Given the description of an element on the screen output the (x, y) to click on. 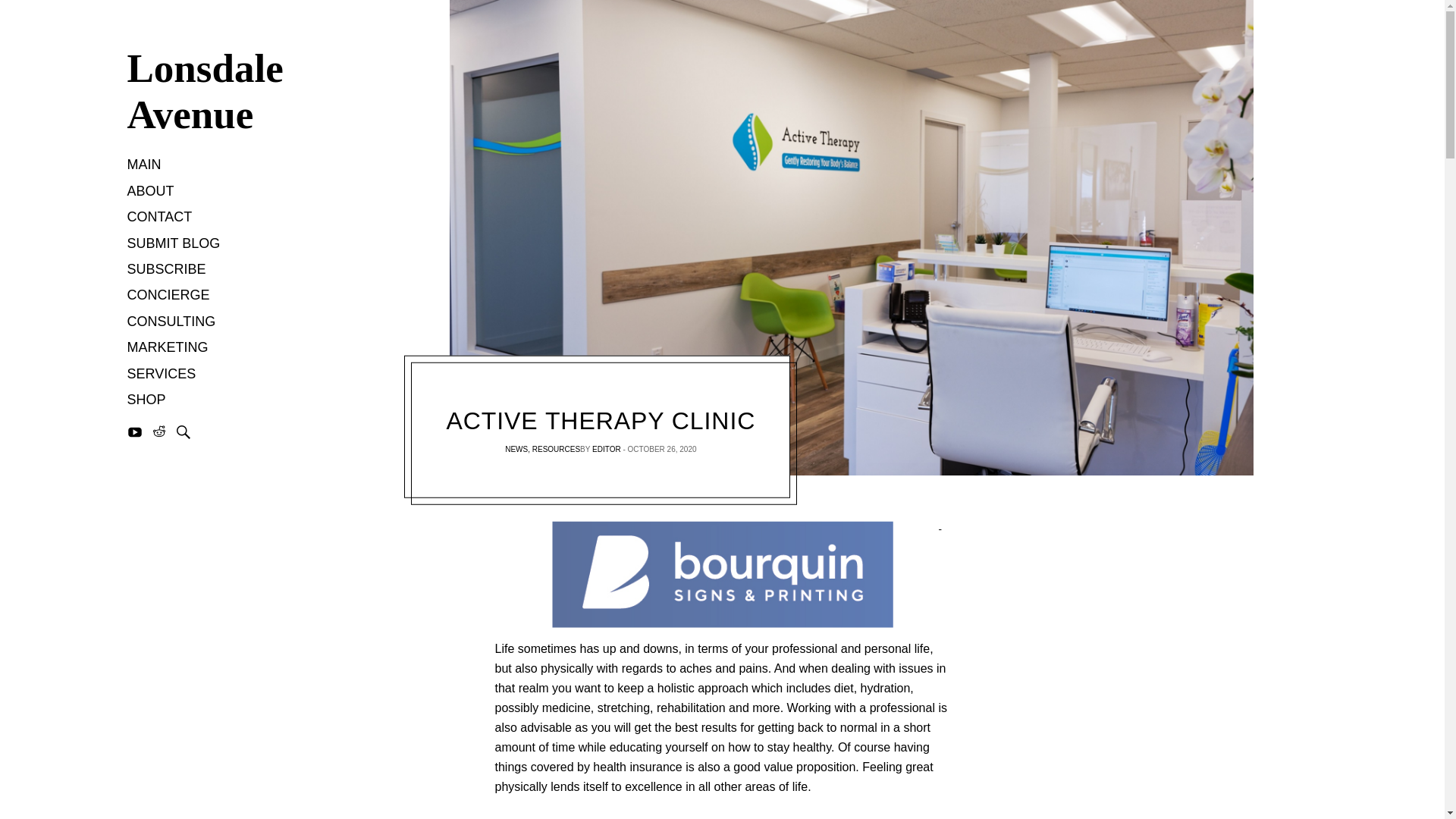
RESOURCES (555, 448)
CONCIERGE (168, 296)
SEARCH (183, 432)
SHOP (146, 400)
SUBSCRIBE (167, 269)
EDITOR (606, 448)
CONTACT (160, 217)
SUBMIT BLOG (174, 243)
NEWS (516, 448)
CONSULTING (171, 321)
Lonsdale Avenue (218, 91)
MARKETING (168, 348)
MAIN (144, 166)
ABOUT (151, 191)
SERVICES (162, 374)
